Given the description of an element on the screen output the (x, y) to click on. 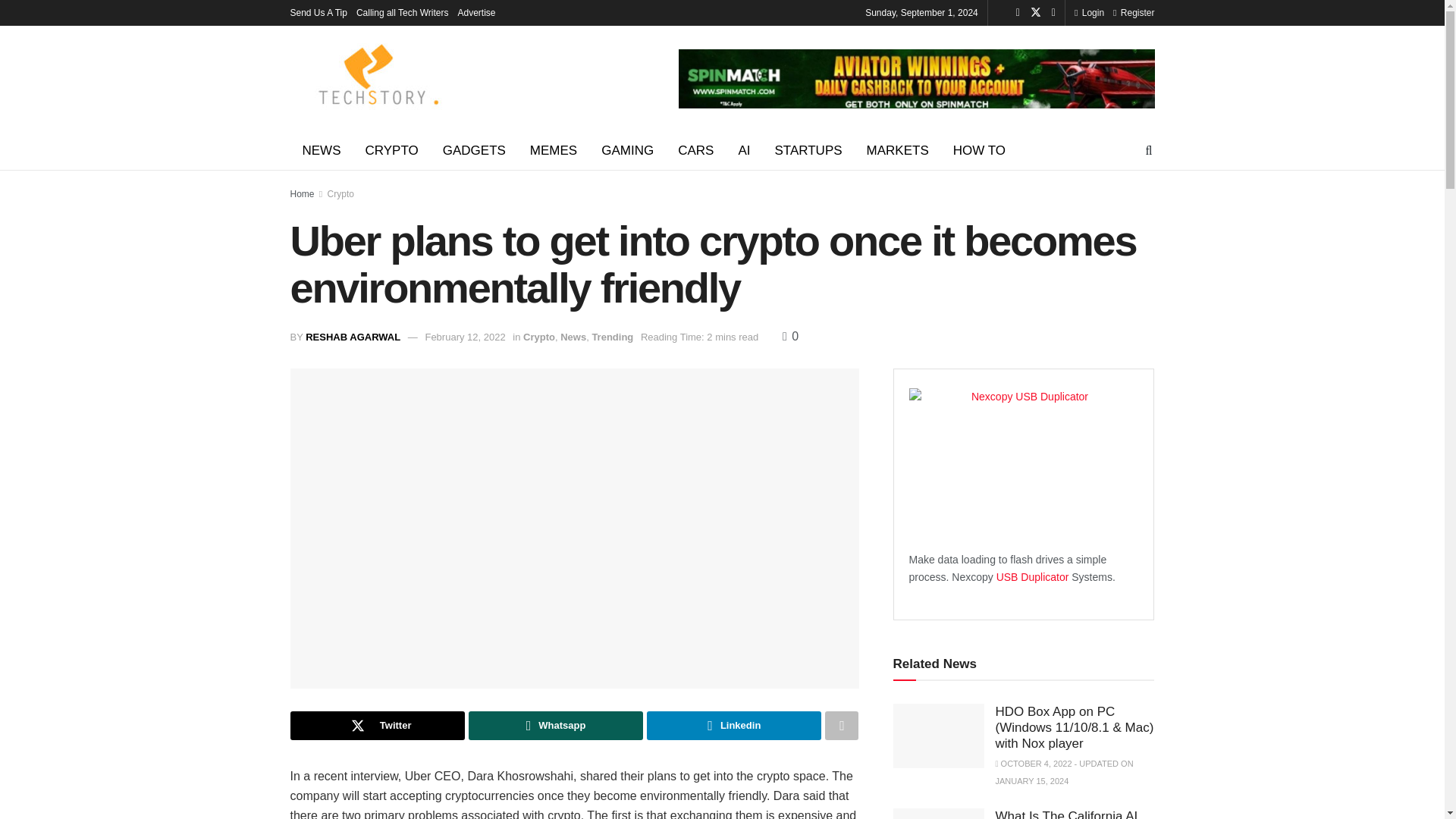
Register (1133, 12)
CRYPTO (391, 150)
Send Us A Tip (317, 12)
GADGETS (474, 150)
AI (743, 150)
HOW TO (978, 150)
Calling all Tech Writers (402, 12)
CARS (695, 150)
Advertise (477, 12)
Login (1088, 12)
